Given the description of an element on the screen output the (x, y) to click on. 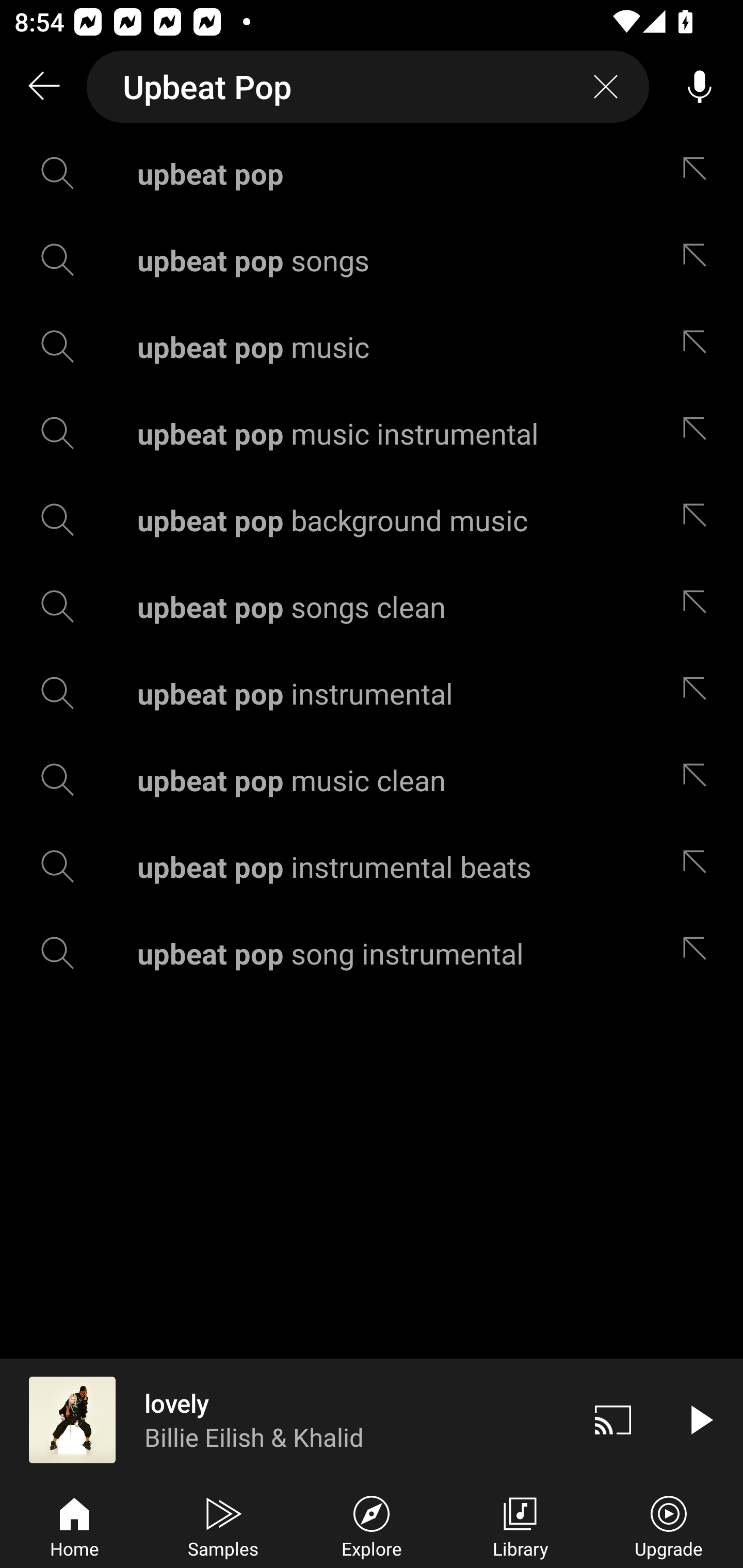
Search back (43, 86)
Upbeat Pop (367, 86)
Clear search (605, 86)
Voice search (699, 86)
upbeat pop Edit suggestion upbeat pop (371, 173)
Edit suggestion upbeat pop (699, 173)
upbeat pop songs Edit suggestion upbeat pop songs (371, 259)
Edit suggestion upbeat pop songs (699, 259)
upbeat pop music Edit suggestion upbeat pop music (371, 346)
Edit suggestion upbeat pop music (699, 346)
Edit suggestion upbeat pop music instrumental (699, 433)
Edit suggestion upbeat pop background music (699, 519)
Edit suggestion upbeat pop songs clean (699, 605)
Edit suggestion upbeat pop instrumental (699, 692)
Edit suggestion upbeat pop music clean (699, 779)
Edit suggestion upbeat pop instrumental beats (699, 866)
Edit suggestion upbeat pop song instrumental (699, 953)
lovely Billie Eilish & Khalid (284, 1419)
Cast. Disconnected (612, 1419)
Play video (699, 1419)
Home (74, 1524)
Samples (222, 1524)
Explore (371, 1524)
Library (519, 1524)
Upgrade (668, 1524)
